Given the description of an element on the screen output the (x, y) to click on. 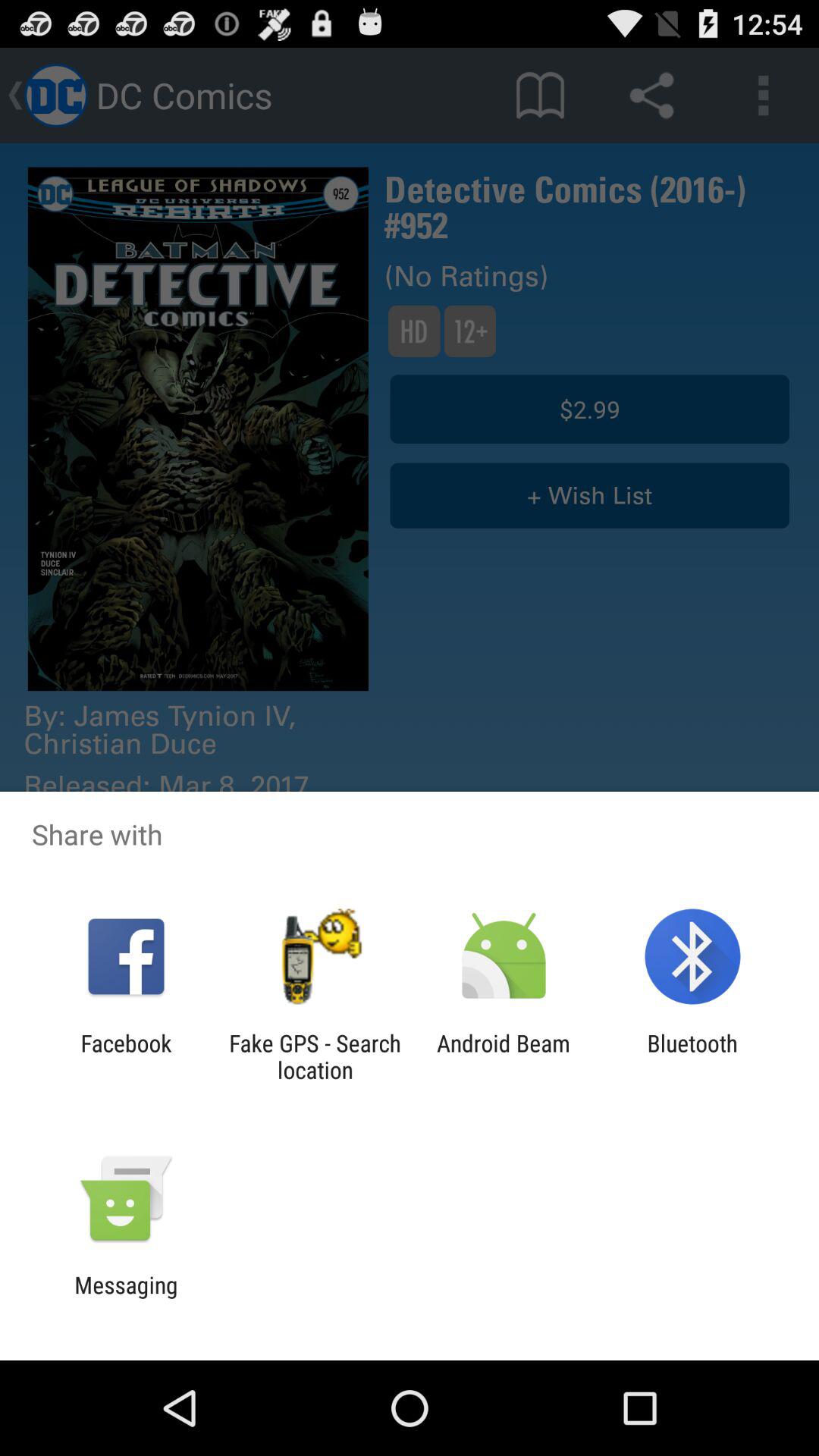
turn off the messaging app (126, 1298)
